Given the description of an element on the screen output the (x, y) to click on. 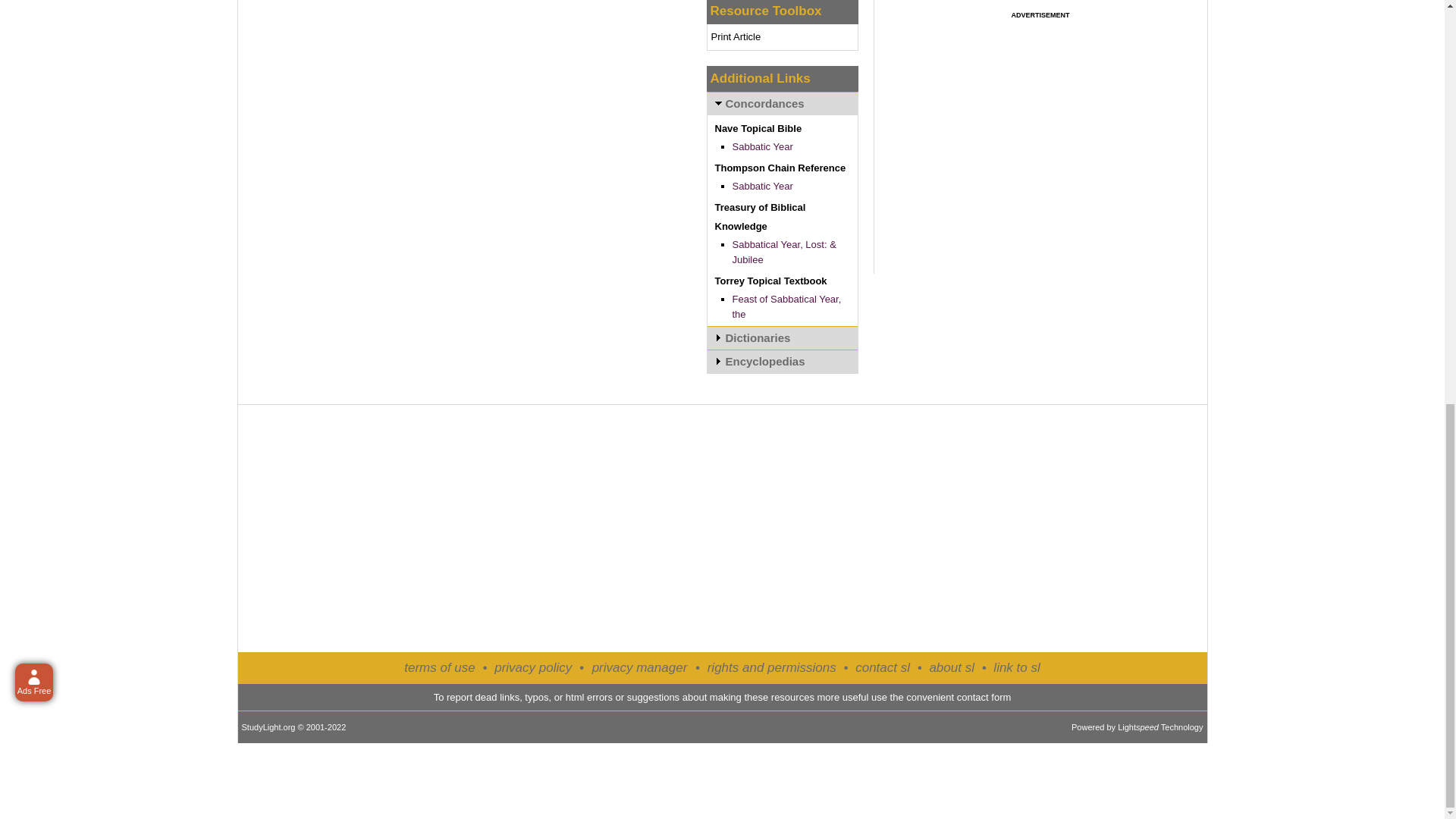
Print Article (736, 36)
Sabbatic Year (762, 146)
Sabbatic Year (762, 185)
Concordances (781, 103)
